Given the description of an element on the screen output the (x, y) to click on. 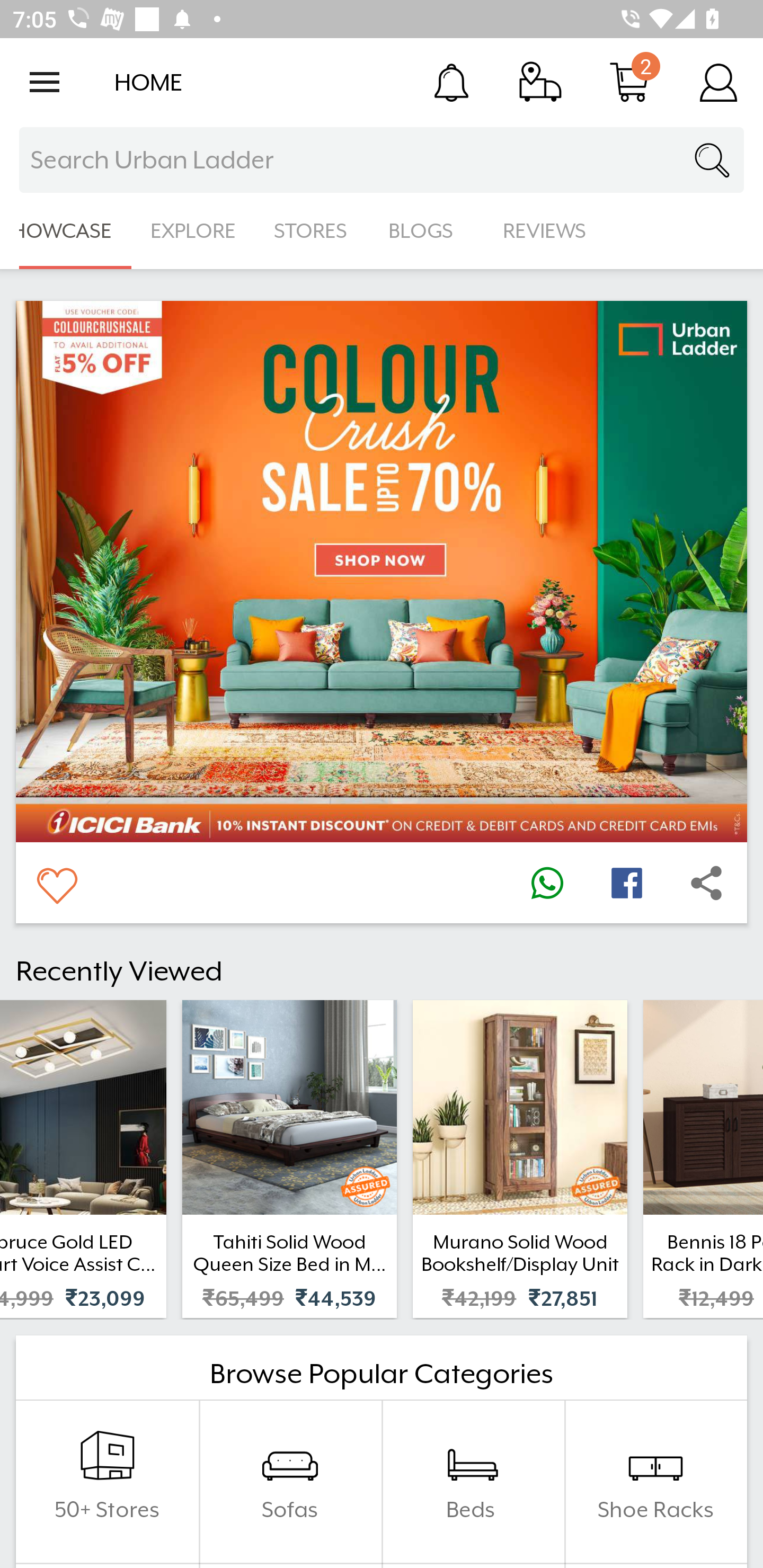
Open navigation drawer (44, 82)
Notification (450, 81)
Track Order (540, 81)
Cart (629, 81)
Account Details (718, 81)
Search Urban Ladder  (381, 159)
SHOWCASE (65, 230)
EXPLORE (192, 230)
STORES (311, 230)
BLOGS (426, 230)
REVIEWS (544, 230)
 (55, 882)
 (547, 882)
 (626, 882)
 (706, 882)
50+ Stores (106, 1481)
Sofas (289, 1481)
Beds  (473, 1481)
Shoe Racks (655, 1481)
